Given the description of an element on the screen output the (x, y) to click on. 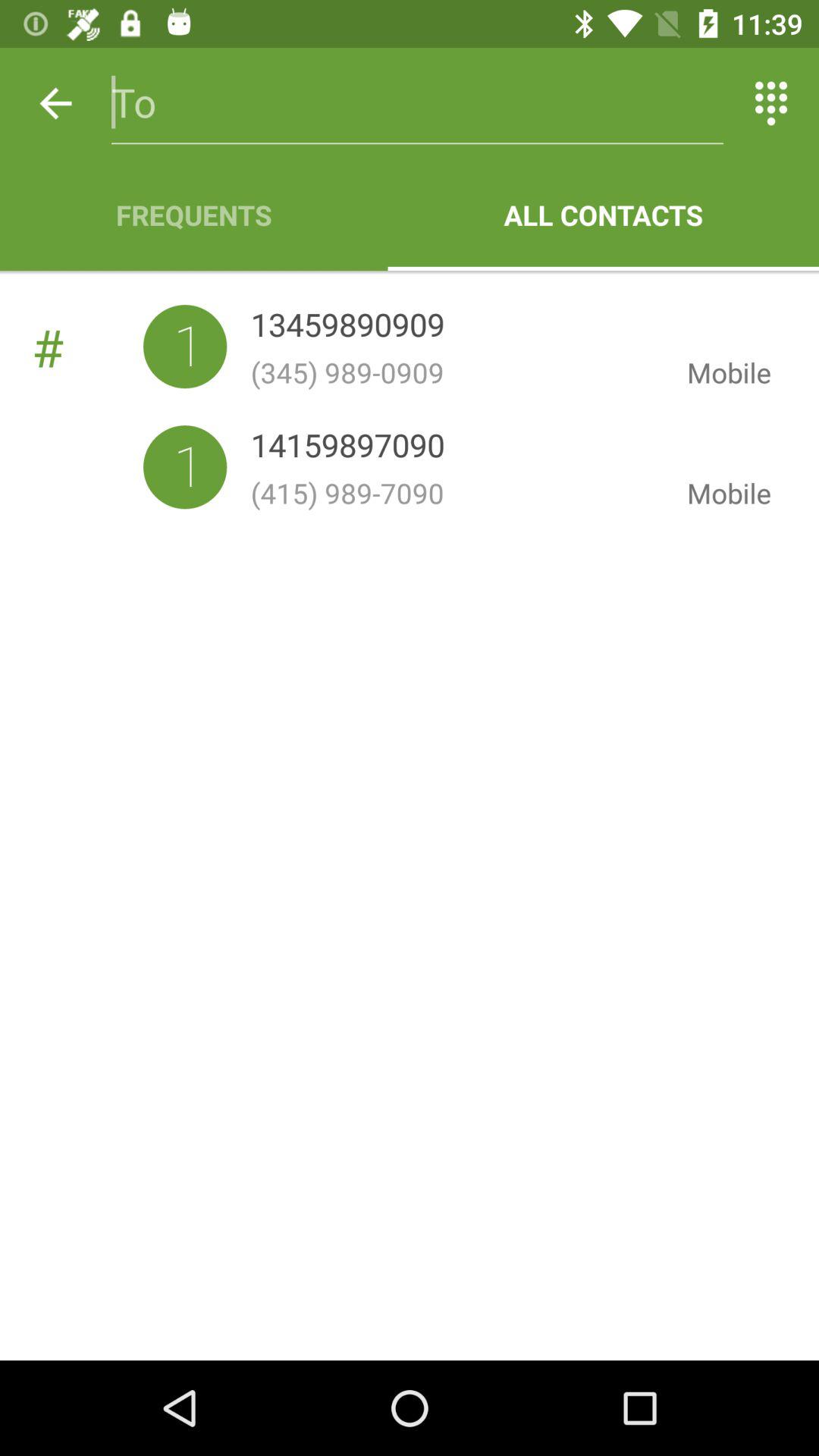
jump to the # icon (87, 346)
